Given the description of an element on the screen output the (x, y) to click on. 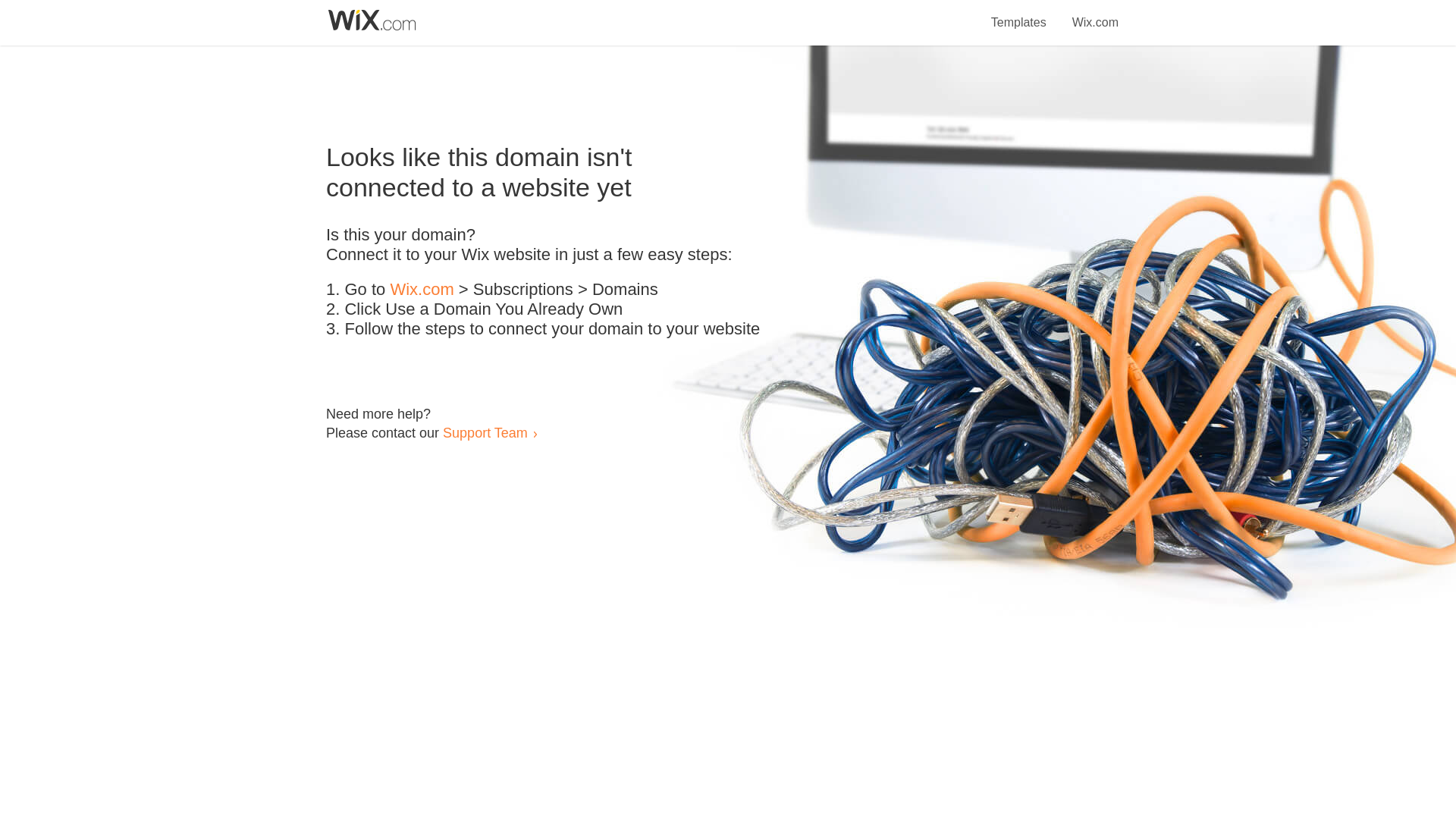
Wix.com (1095, 14)
Wix.com (421, 289)
Templates (1018, 14)
Support Team (484, 432)
